Given the description of an element on the screen output the (x, y) to click on. 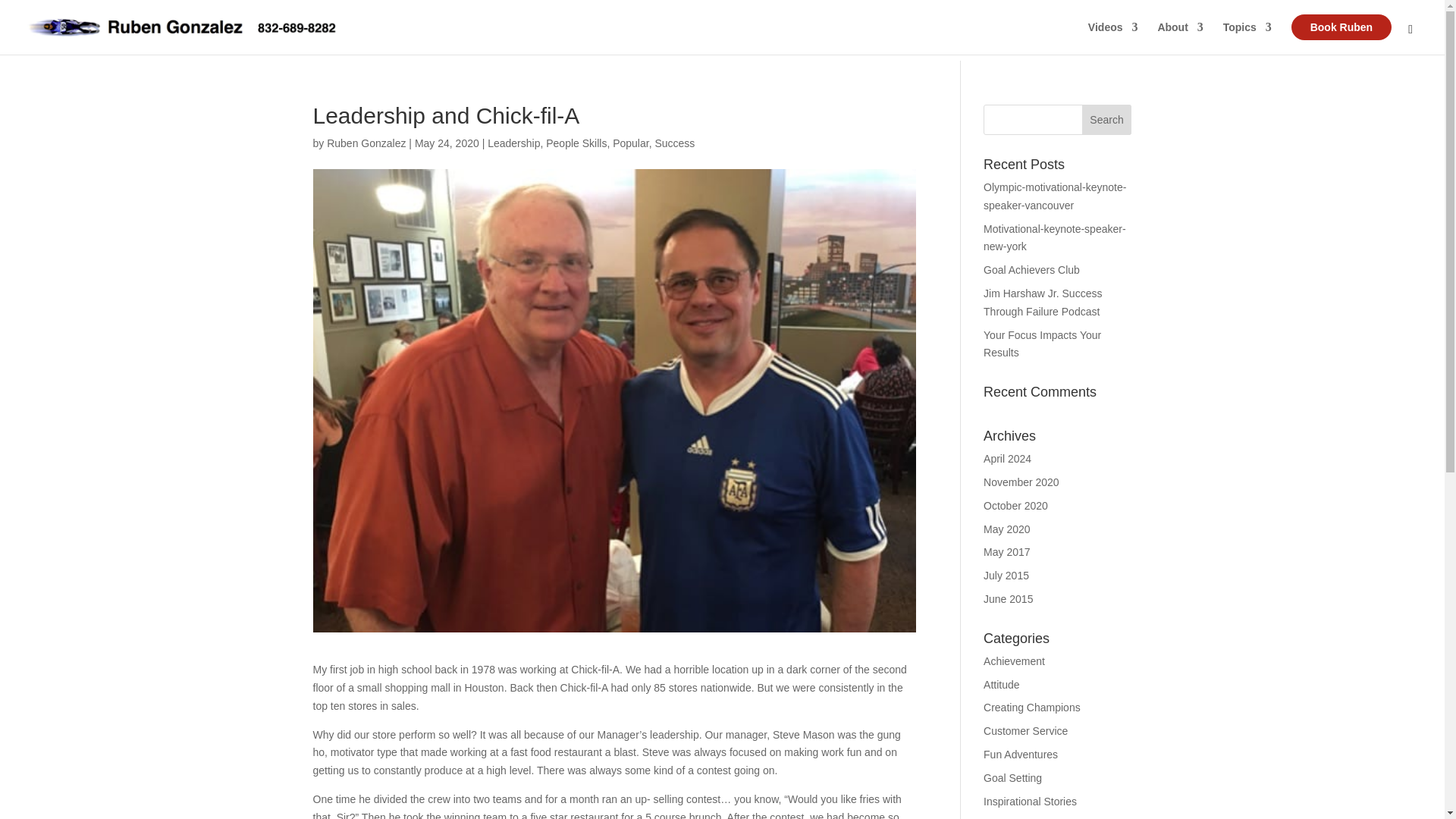
Search (1106, 119)
June 2015 (1008, 598)
People Skills (576, 143)
October 2020 (1016, 505)
About (1179, 38)
May 2017 (1006, 551)
July 2015 (1006, 575)
Posts by Ruben Gonzalez (366, 143)
Search (1106, 119)
Videos (1112, 38)
Popular (629, 143)
November 2020 (1021, 481)
Leadership (513, 143)
Ruben Gonzalez (366, 143)
Jim Harshaw Jr. Success Through Failure Podcast (1043, 302)
